Given the description of an element on the screen output the (x, y) to click on. 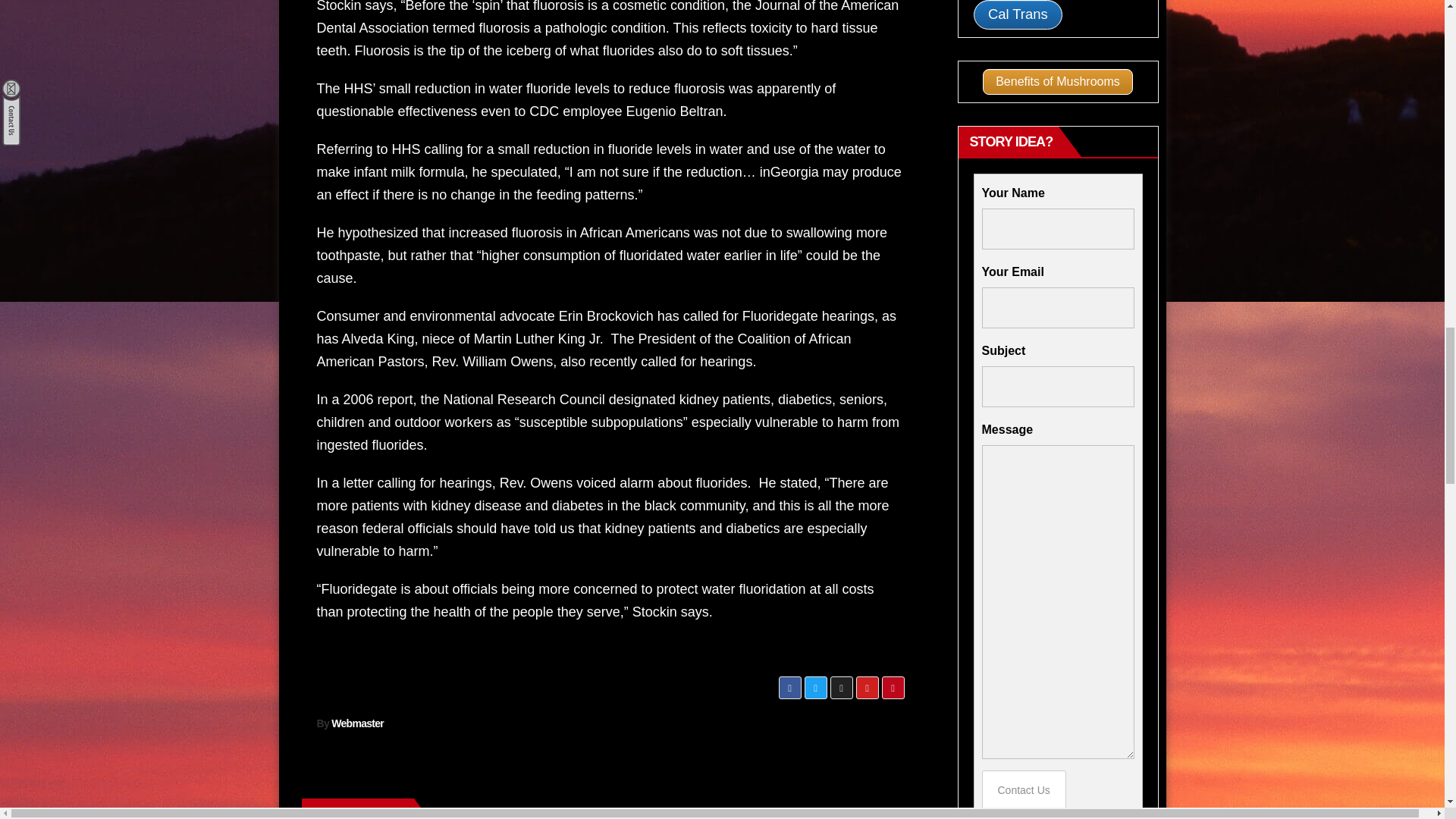
Webmaster (357, 723)
